Given the description of an element on the screen output the (x, y) to click on. 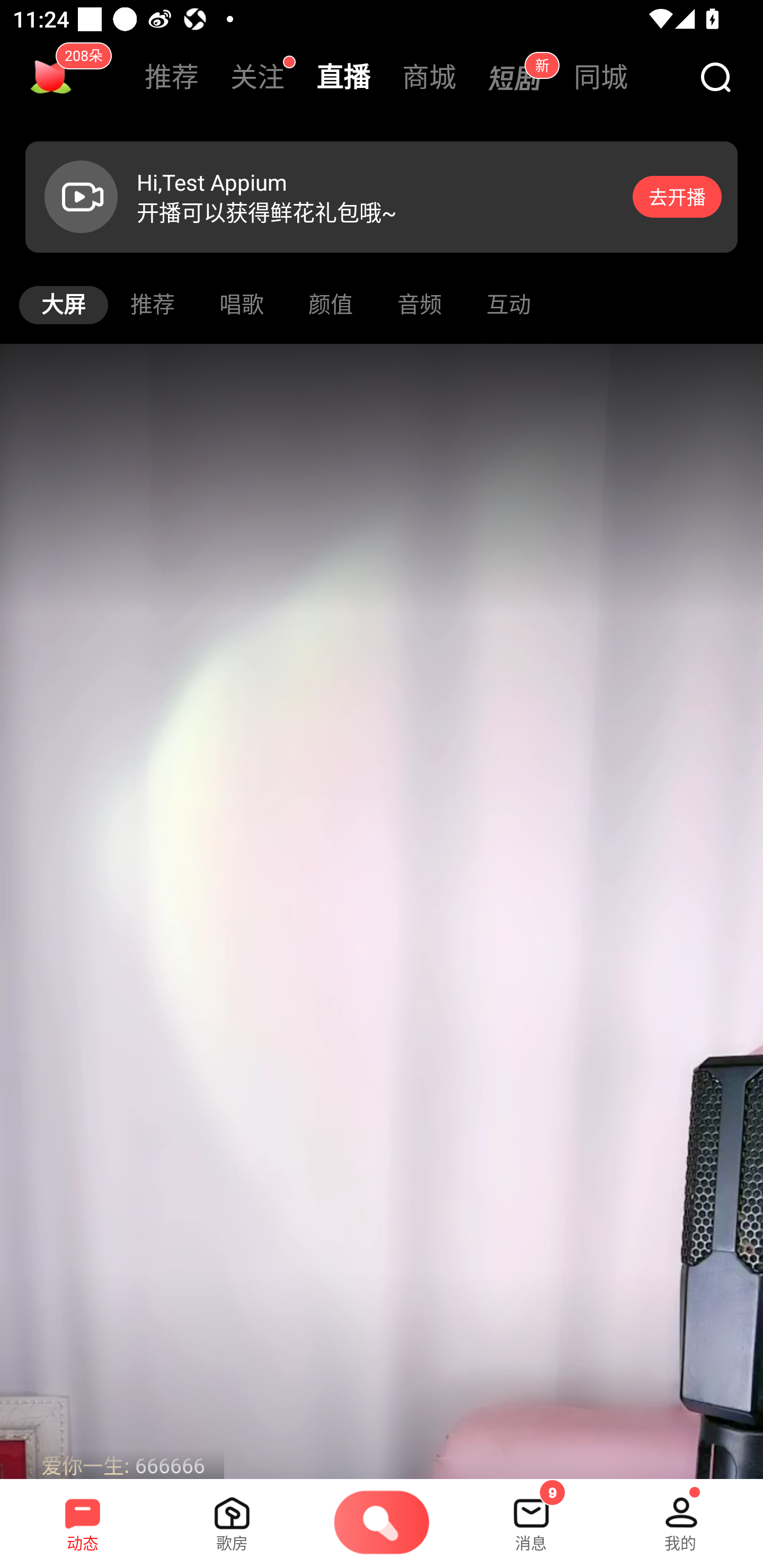
推荐 (171, 77)
关注 (257, 77)
直播 (343, 77)
商城 (429, 77)
同城 (600, 77)
任务中心 (50, 77)
搜索 (714, 78)
Hi,Test Appium 开播可以获得鲜花礼包哦~ 去开播 (381, 196)
大屏 (63, 304)
推荐 (152, 304)
唱歌 (241, 304)
颜值 (330, 304)
音频 (419, 304)
互动 (508, 304)
已选中动态 (82, 1516)
未选中歌房 (231, 1516)
未选中录歌 (381, 1523)
未选中消息 (530, 1516)
未选中我的 (680, 1516)
